Given the description of an element on the screen output the (x, y) to click on. 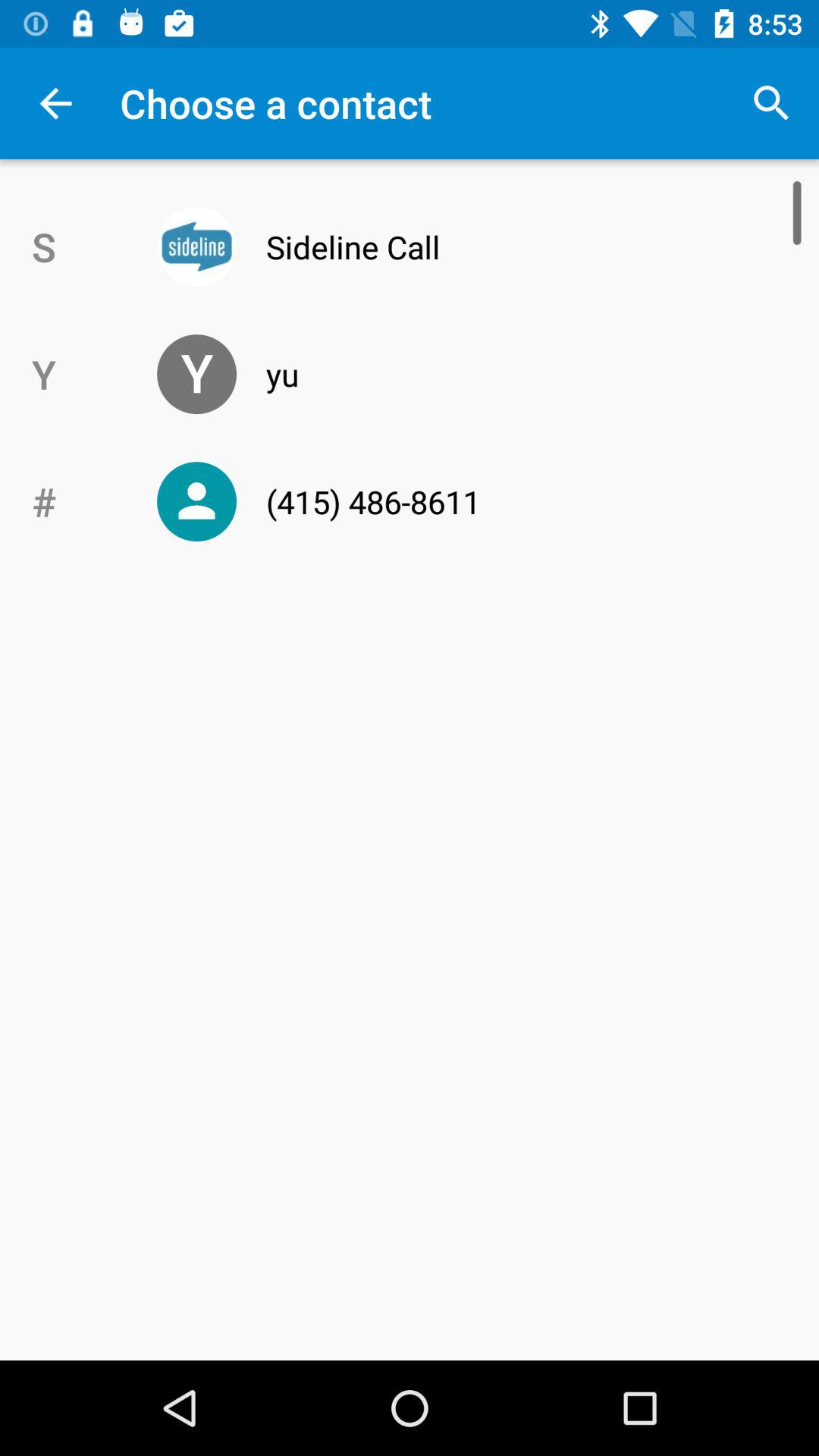
turn off the item above the sideline call item (771, 103)
